Given the description of an element on the screen output the (x, y) to click on. 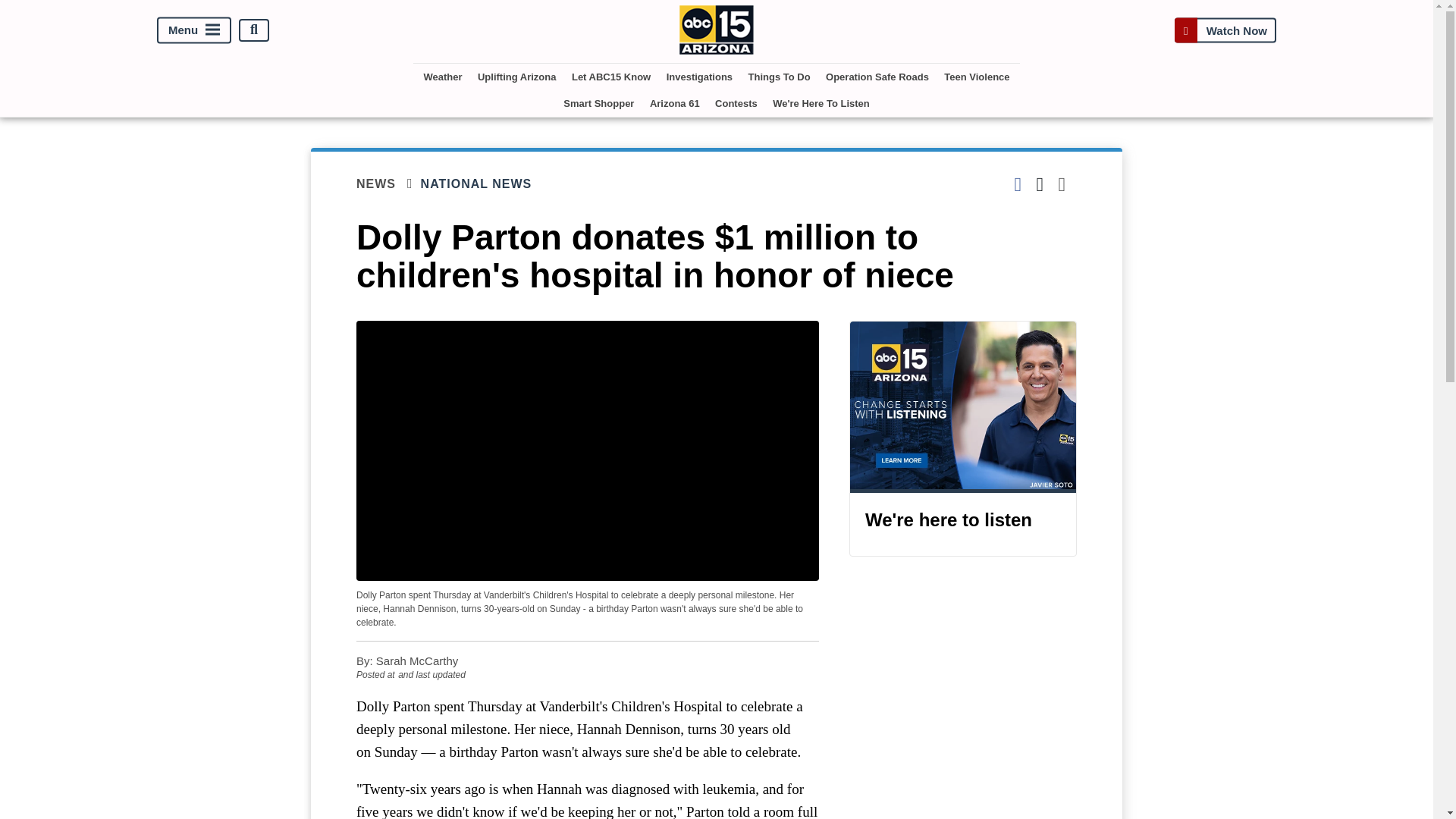
Watch Now (1224, 29)
Menu (194, 29)
